Given the description of an element on the screen output the (x, y) to click on. 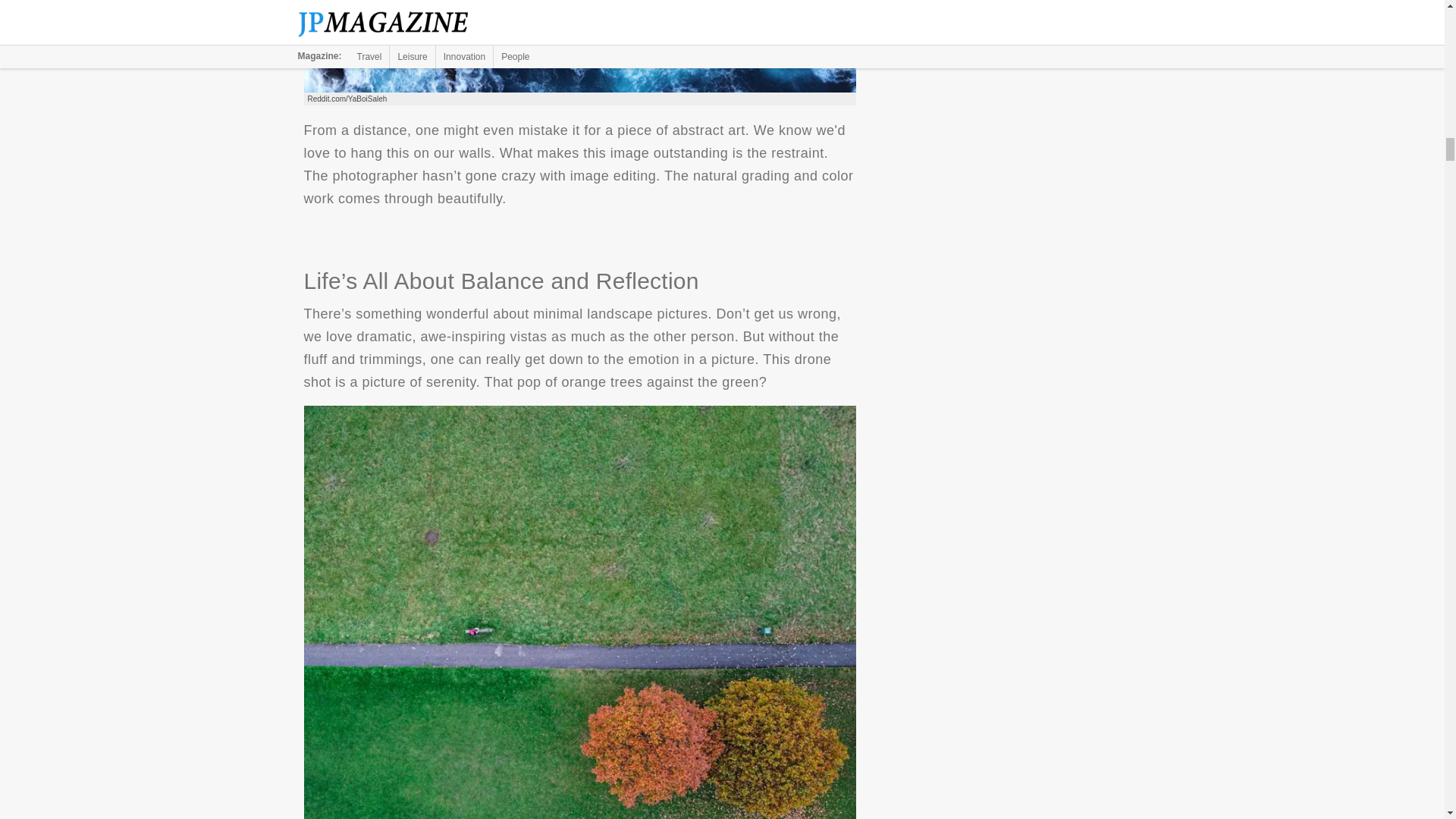
If Trepidation Were a Picture (579, 46)
